Given the description of an element on the screen output the (x, y) to click on. 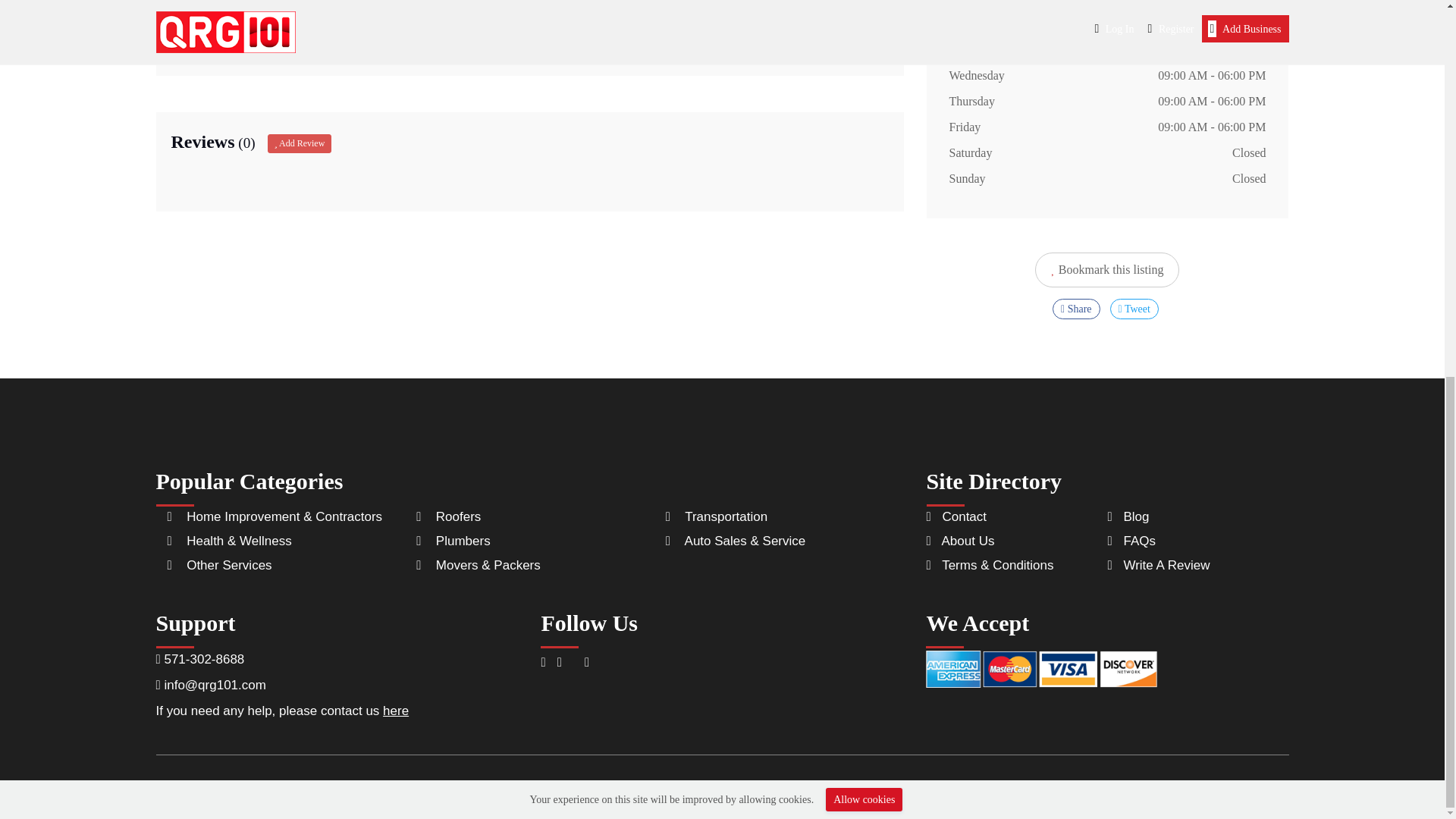
Plumbers (462, 540)
Share (1076, 308)
Contact (956, 516)
Bookmark this listing (1107, 269)
Tweet (1133, 308)
Roofers (458, 516)
Add Review (299, 143)
Transportation (725, 516)
About Us (960, 540)
Other Services (228, 564)
Blog (1127, 516)
